Given the description of an element on the screen output the (x, y) to click on. 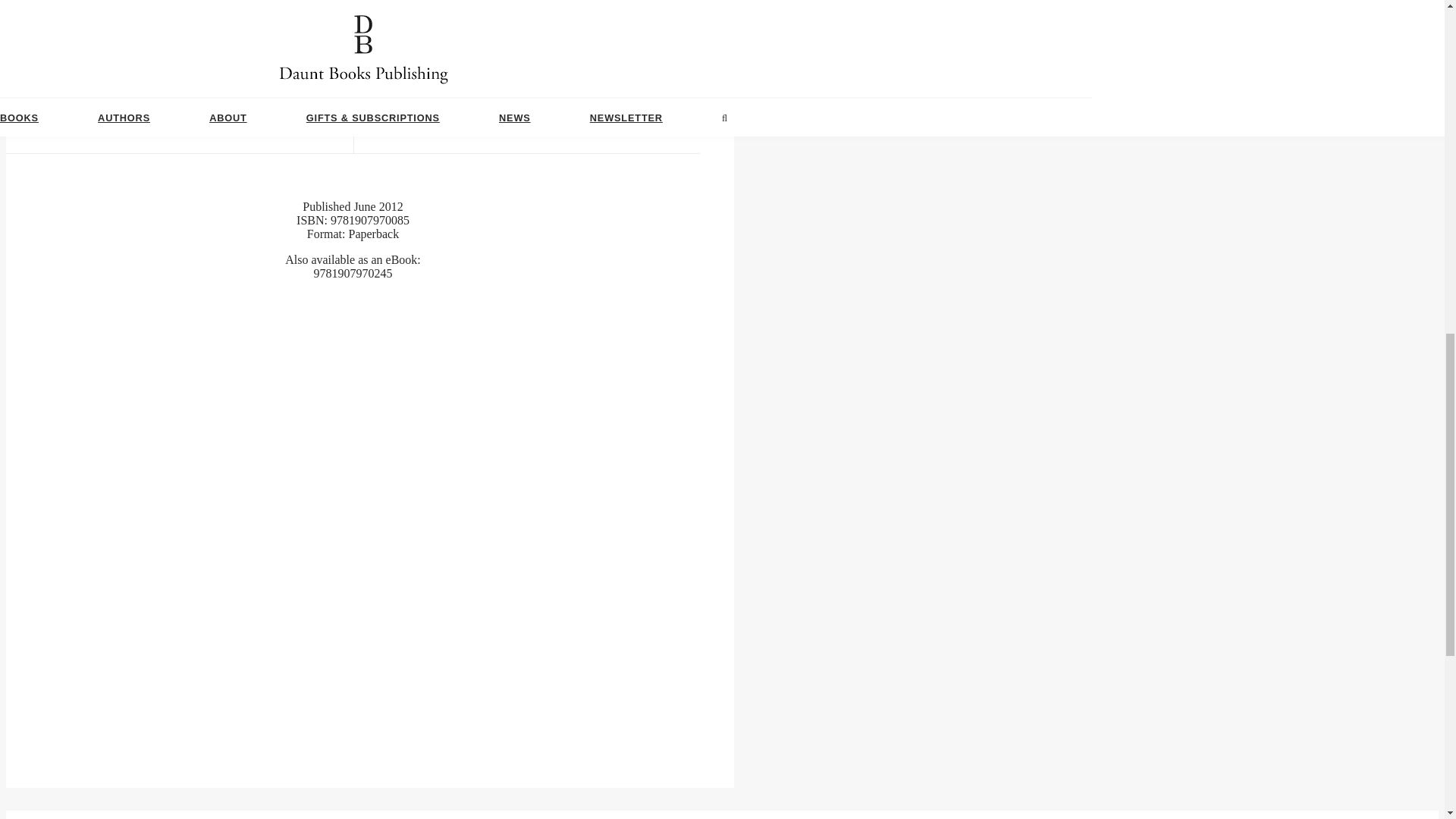
BUY NOW (353, 105)
BUY NOW (353, 104)
